Given the description of an element on the screen output the (x, y) to click on. 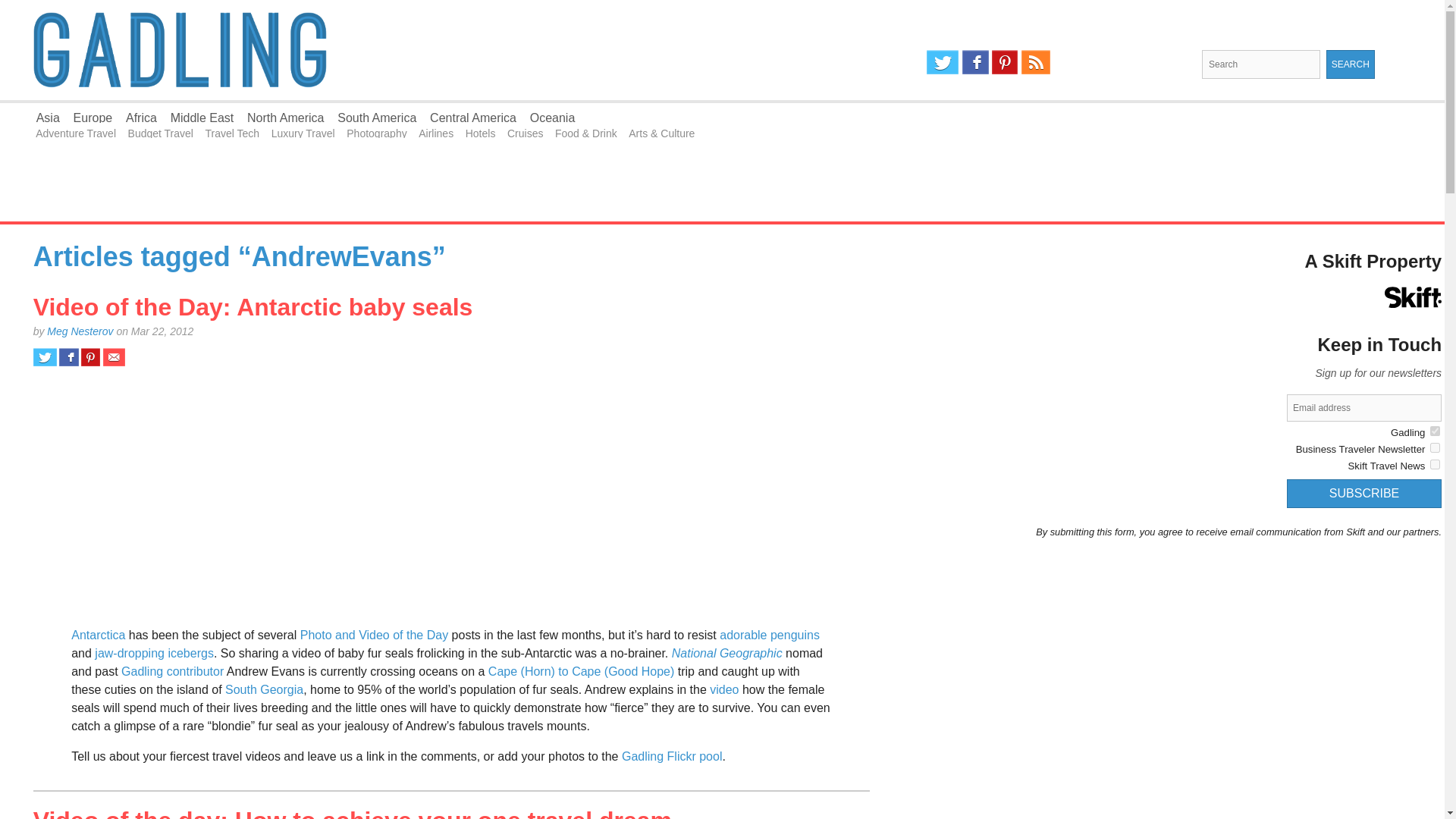
North America (285, 117)
Share via email (114, 357)
South America (376, 117)
National Geographic (727, 653)
Video of the Day: Antarctic baby seals (253, 307)
Cruises (524, 133)
Antarctica (98, 634)
256 (1434, 430)
Share on Twitter (44, 357)
Asia (47, 117)
adorable penguins (769, 634)
Meg Nesterov (79, 331)
Video of the day: How to achieve your one travel dream (352, 812)
RSS Feed (1035, 61)
Travel Tech (232, 133)
